Given the description of an element on the screen output the (x, y) to click on. 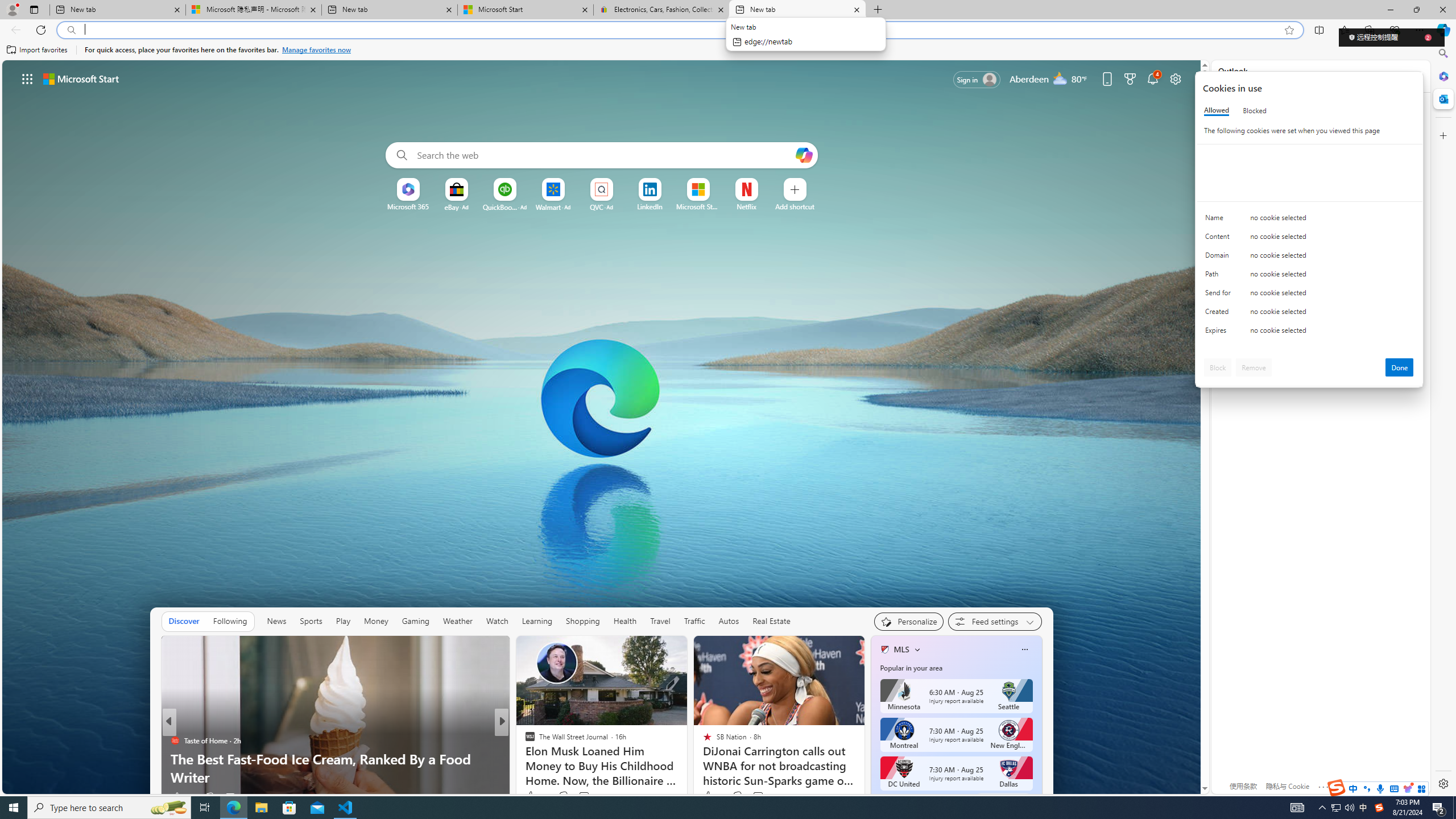
Allowed (1216, 110)
